Given the description of an element on the screen output the (x, y) to click on. 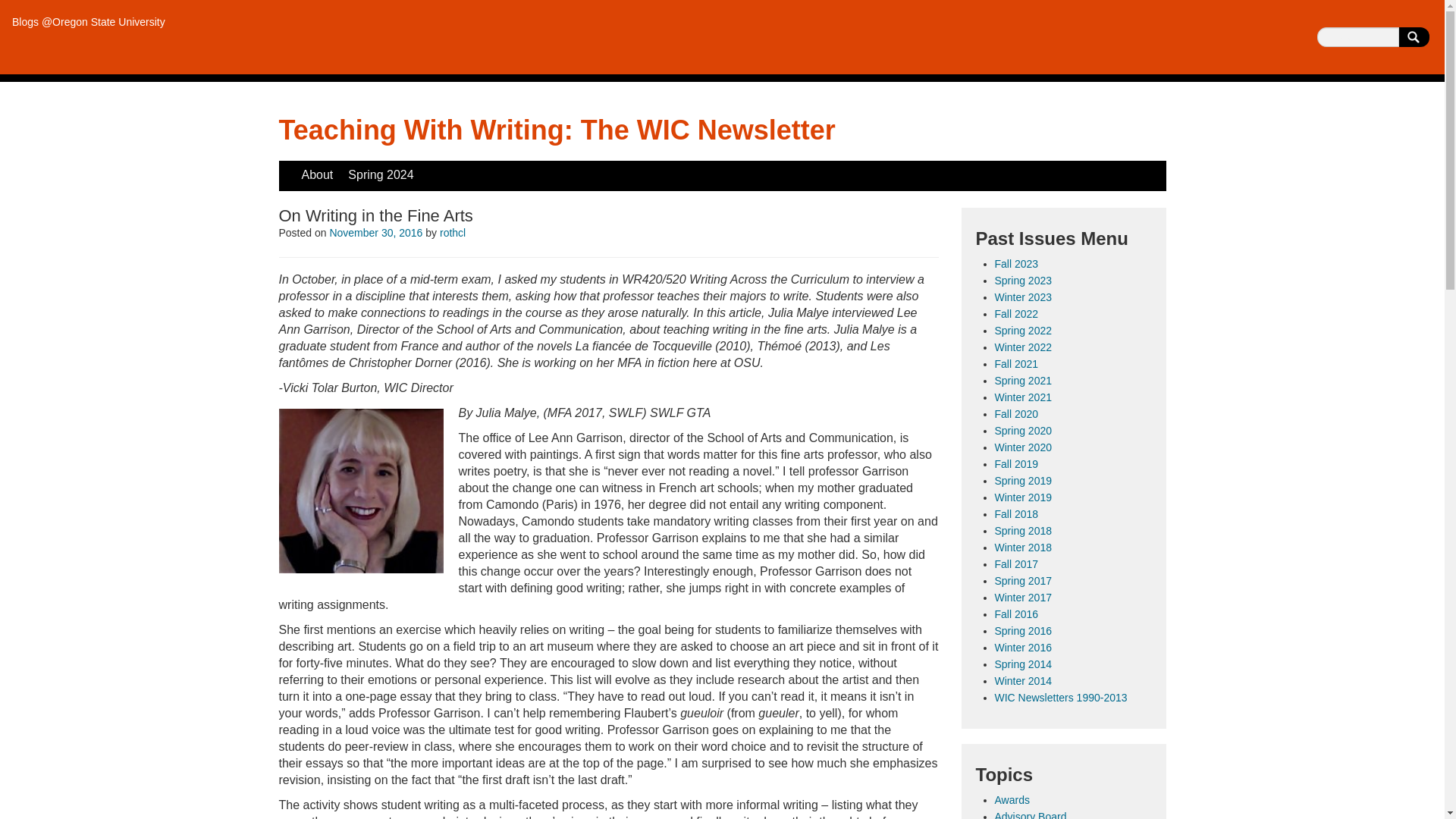
Winter 2018 (1022, 547)
View all posts by rothcl (452, 232)
Fall 2023 (1016, 263)
Winter 2021 (1022, 397)
Skip to primary content (341, 168)
Spring 2021 (1023, 380)
November 30, 2016 (375, 232)
Spring 2022 (1023, 330)
Teaching With Writing: The WIC Newsletter (557, 129)
Spring 2024 (380, 175)
3:41 pm (375, 232)
Spring 2023 (1023, 280)
Spring 2018 (1023, 530)
Fall 2021 (1016, 363)
Winter 2023 (1022, 297)
